Given the description of an element on the screen output the (x, y) to click on. 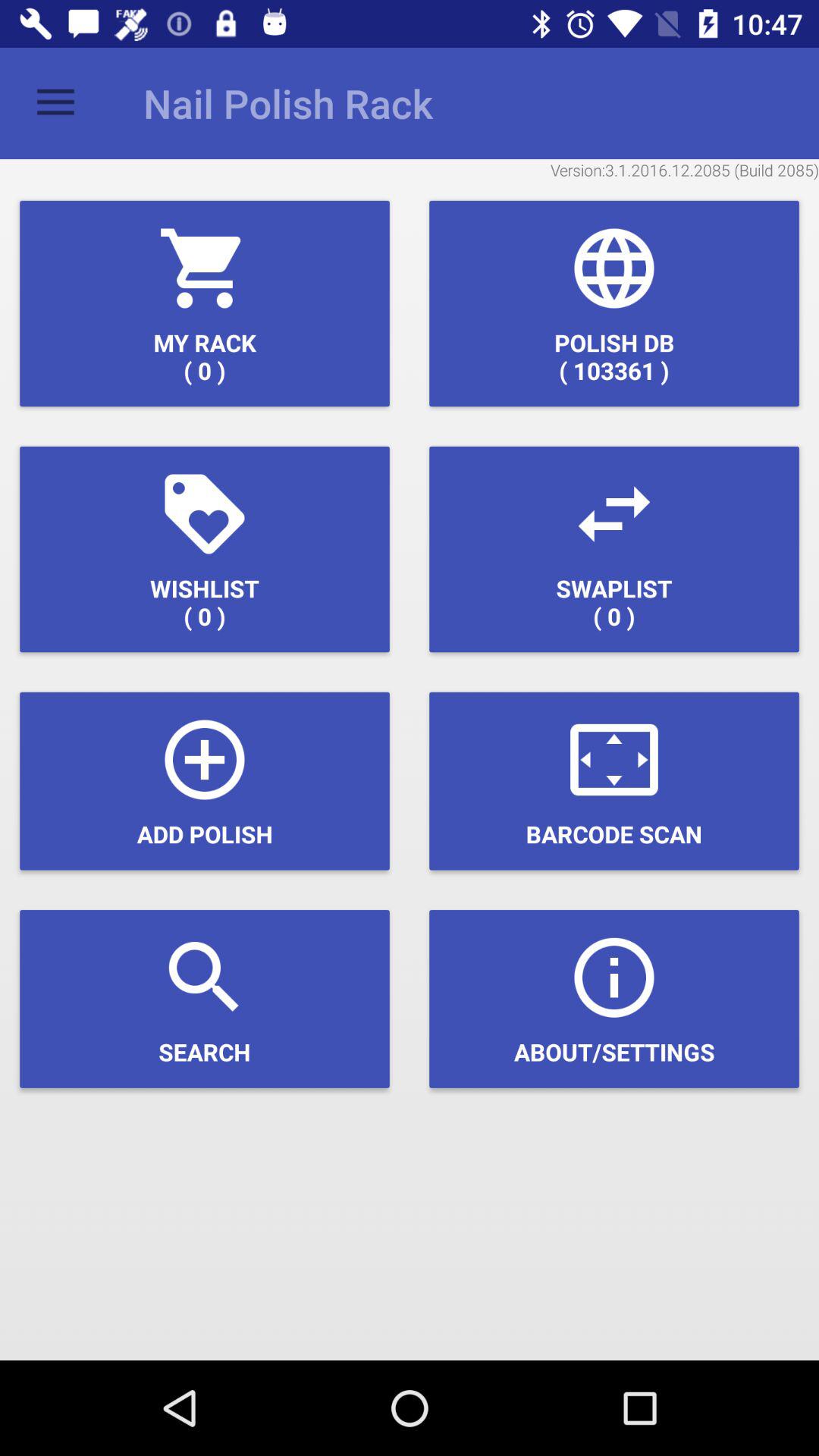
click the icon at the bottom right corner (614, 999)
